Given the description of an element on the screen output the (x, y) to click on. 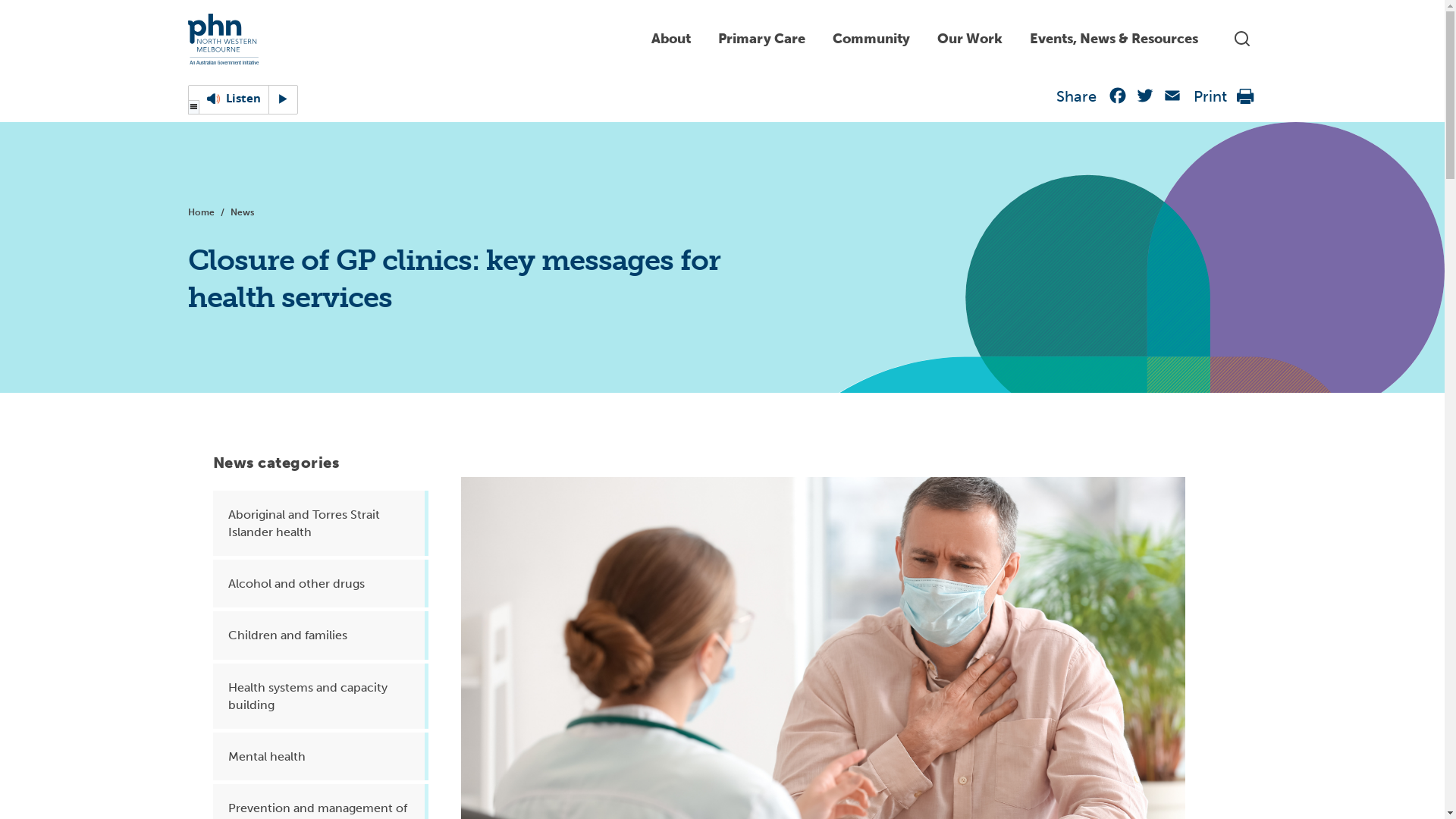
Children and families Element type: text (319, 634)
Mental health Element type: text (319, 756)
Aboriginal and Torres Strait Islander health Element type: text (319, 522)
Primary Care Element type: text (760, 38)
Facebook Element type: text (1117, 98)
Listen Element type: text (243, 99)
Our Work Element type: text (969, 38)
Health systems and capacity building Element type: text (319, 695)
Email Element type: text (1172, 98)
PrintFriendly Element type: hover (1245, 99)
Twitter Element type: text (1144, 98)
Alcohol and other drugs Element type: text (319, 583)
webReader menu Element type: hover (193, 107)
News Element type: text (241, 212)
Home Element type: text (203, 212)
About Element type: text (670, 38)
Community Element type: text (871, 38)
Events, News & Resources Element type: text (1113, 38)
